Given the description of an element on the screen output the (x, y) to click on. 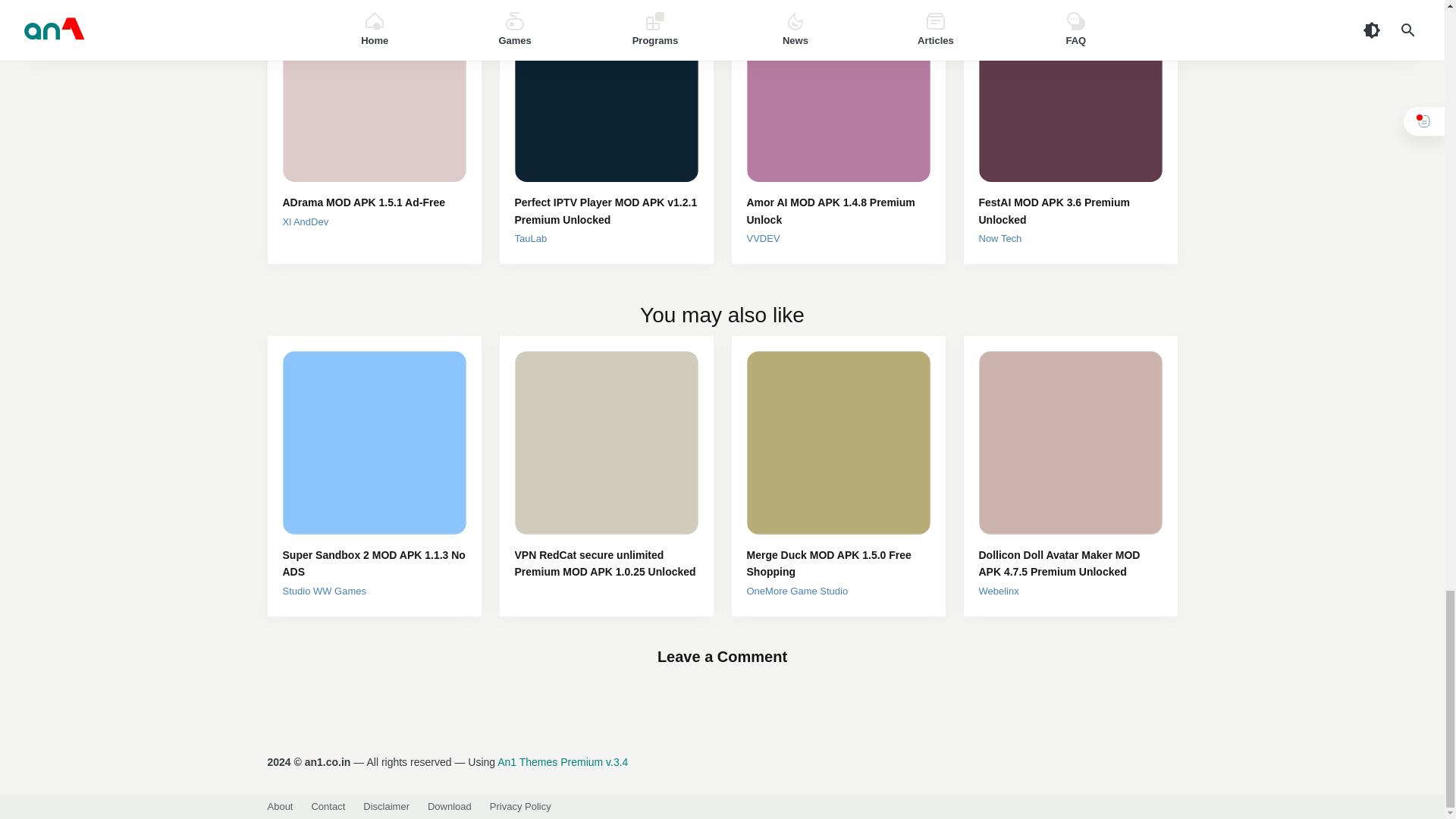
Amor AI MOD APK 1.4.8 Premium Unlock (837, 211)
Perfect IPTV Player MOD APK v1.2.1 Premium Unlocked (605, 211)
ADrama MOD APK 1.5.1 Ad-Free (373, 202)
